Given the description of an element on the screen output the (x, y) to click on. 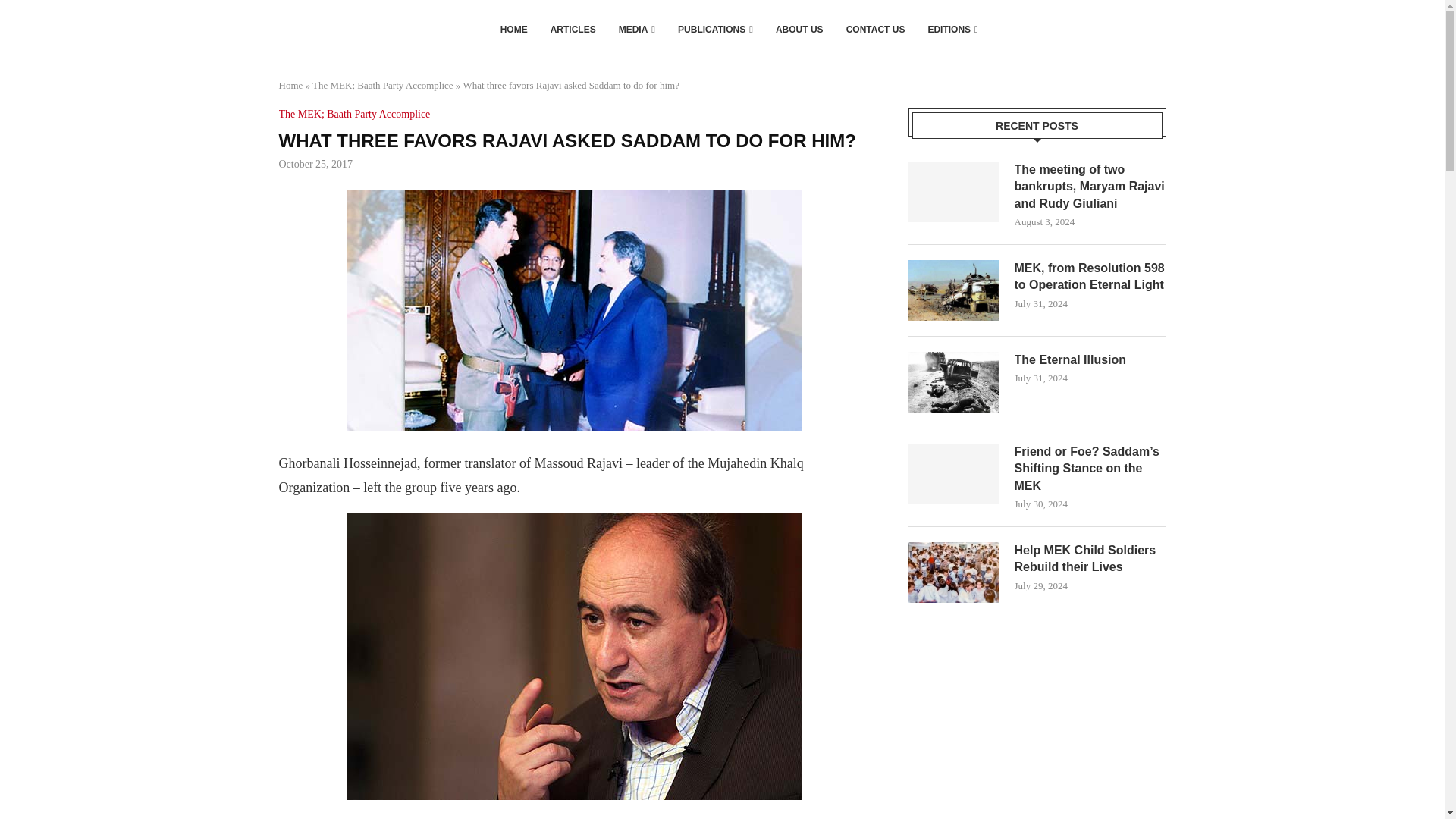
PUBLICATIONS (715, 29)
CONTACT US (875, 29)
EDITIONS (951, 29)
MEK, from Resolution 598 to Operation Eternal Light (1090, 277)
Raajvi and Saddam (574, 310)
ARTICLES (572, 29)
MEK, from Resolution 598 to Operation Eternal Light (953, 290)
ABOUT US (800, 29)
